Given the description of an element on the screen output the (x, y) to click on. 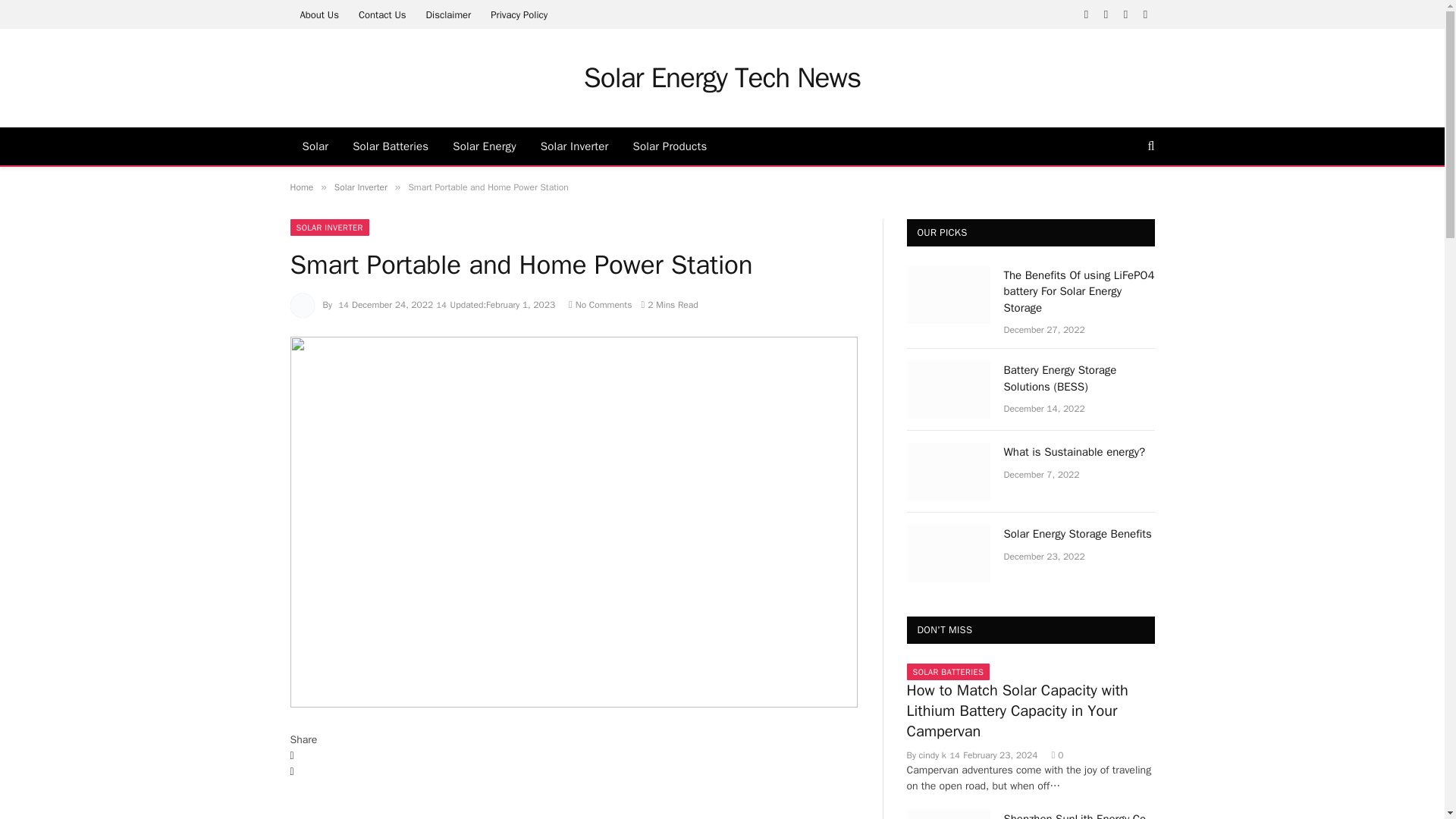
Solar Inverter (574, 146)
Solar Energy Tech News (721, 77)
Solar Energy Tech News (721, 77)
Solar Energy (484, 146)
Solar (314, 146)
No Comments (600, 304)
Disclaimer (447, 14)
LinkedIn (573, 803)
Solar Inverter (360, 186)
